Given the description of an element on the screen output the (x, y) to click on. 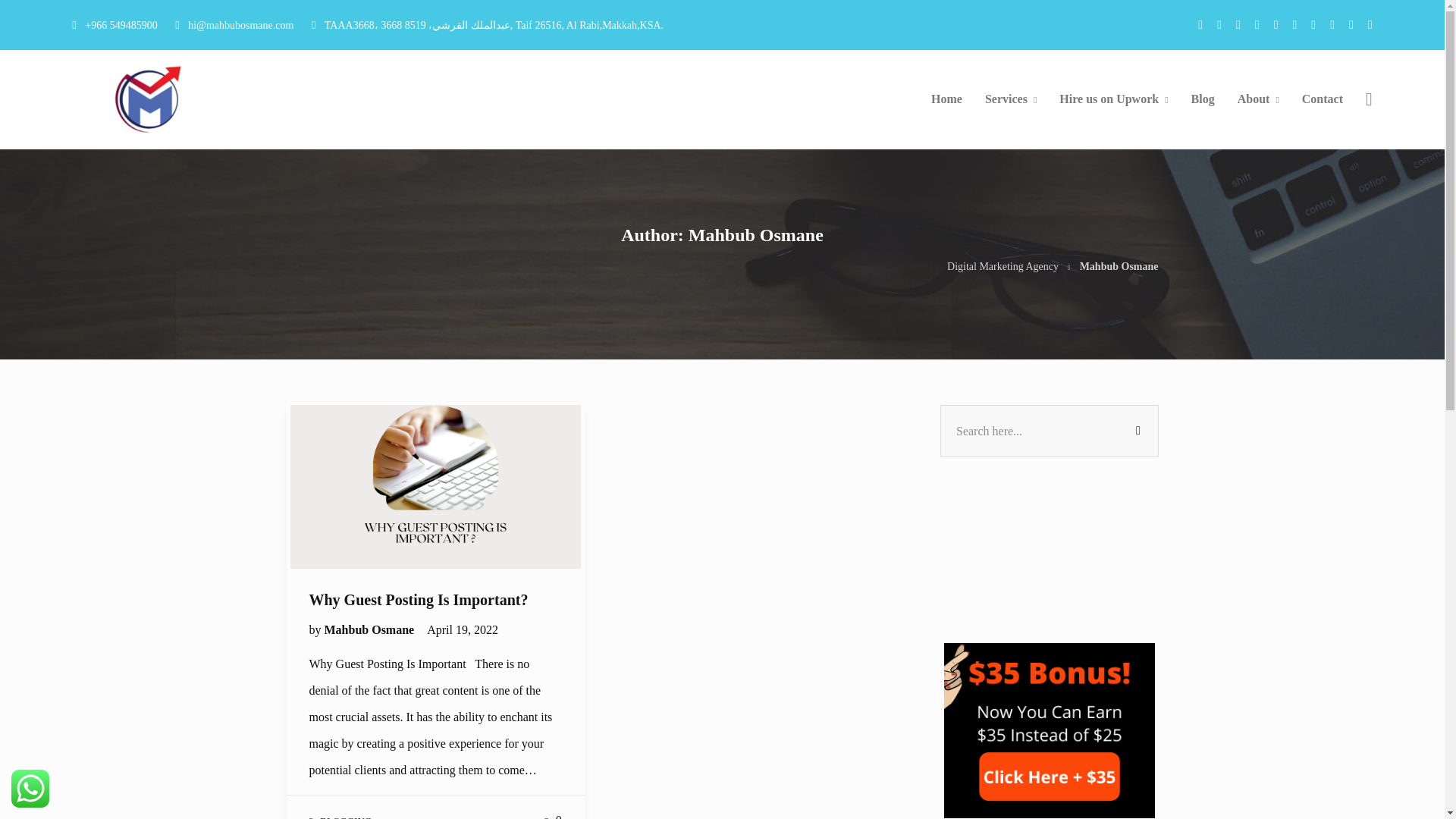
Digital Marketing Agency (1002, 266)
Search text (1049, 430)
